Given the description of an element on the screen output the (x, y) to click on. 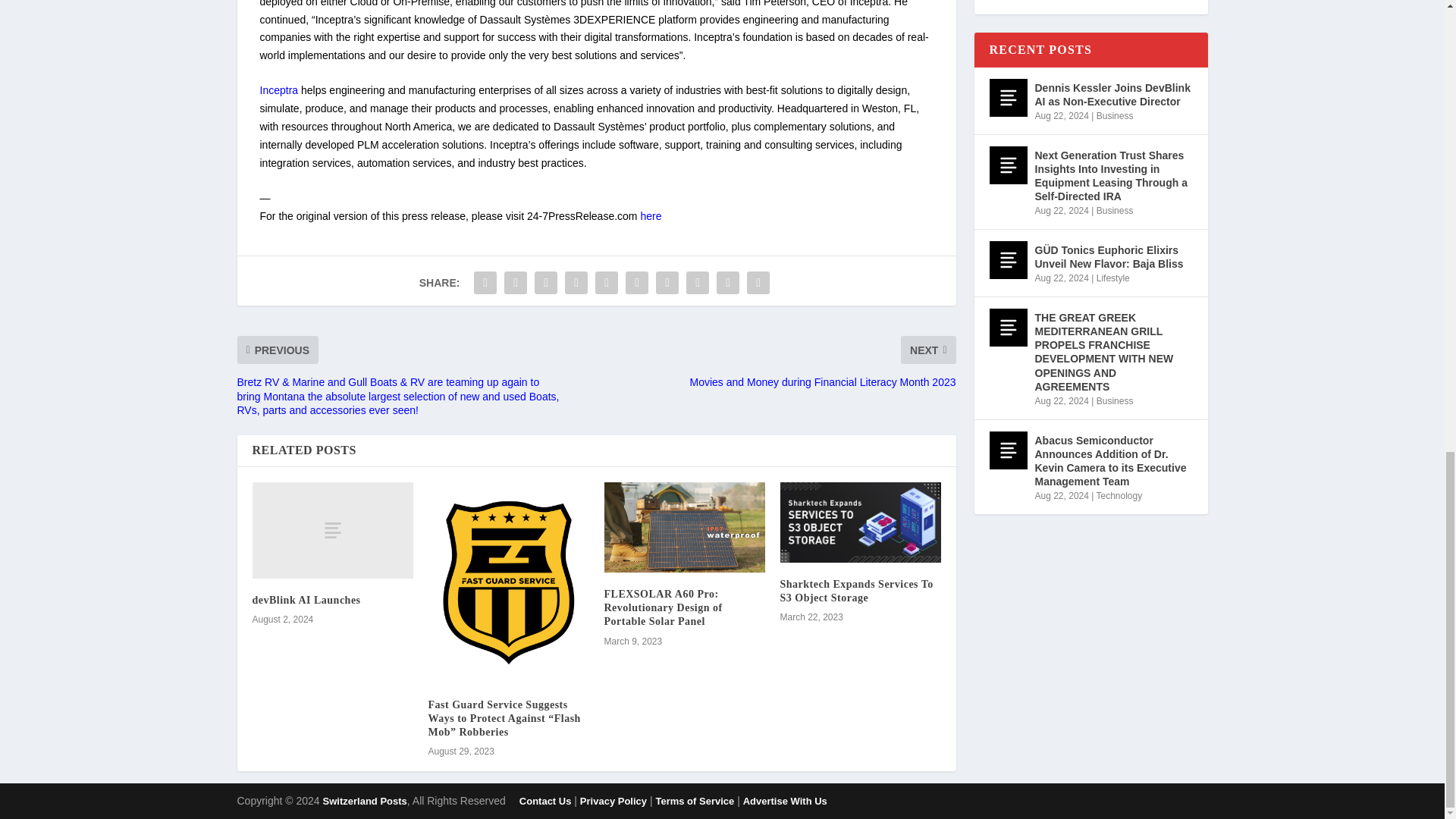
devBlink AI Launches (305, 600)
Sharktech Expands Services To S3 Object Storage (859, 522)
devBlink AI Launches (331, 530)
here (650, 215)
Inceptra (278, 90)
